Given the description of an element on the screen output the (x, y) to click on. 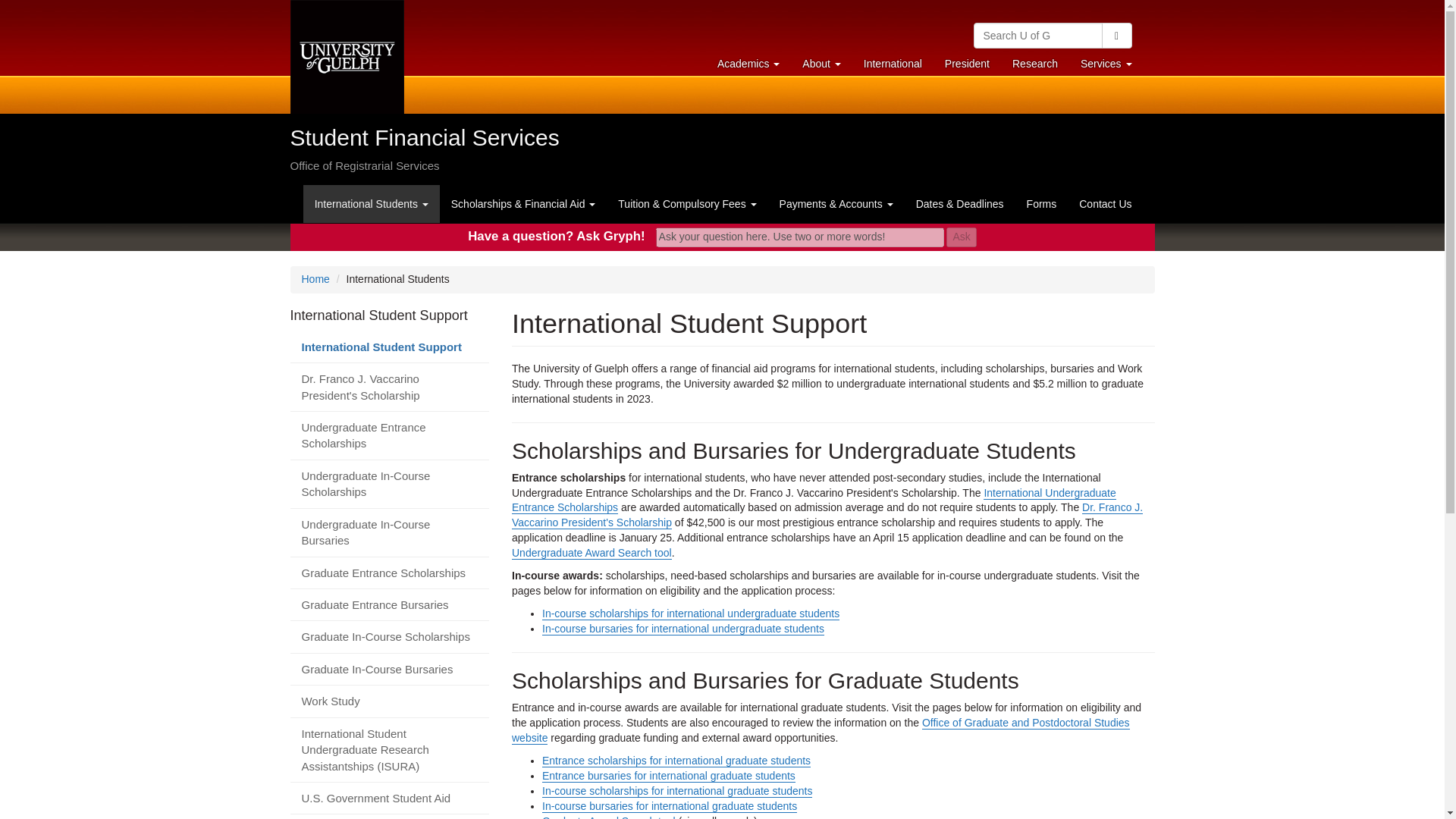
International (892, 63)
Ask (960, 237)
Skip to main content (748, 63)
President (1105, 63)
Home (820, 63)
Ask your question here. Use two or more words! (1034, 63)
